Given the description of an element on the screen output the (x, y) to click on. 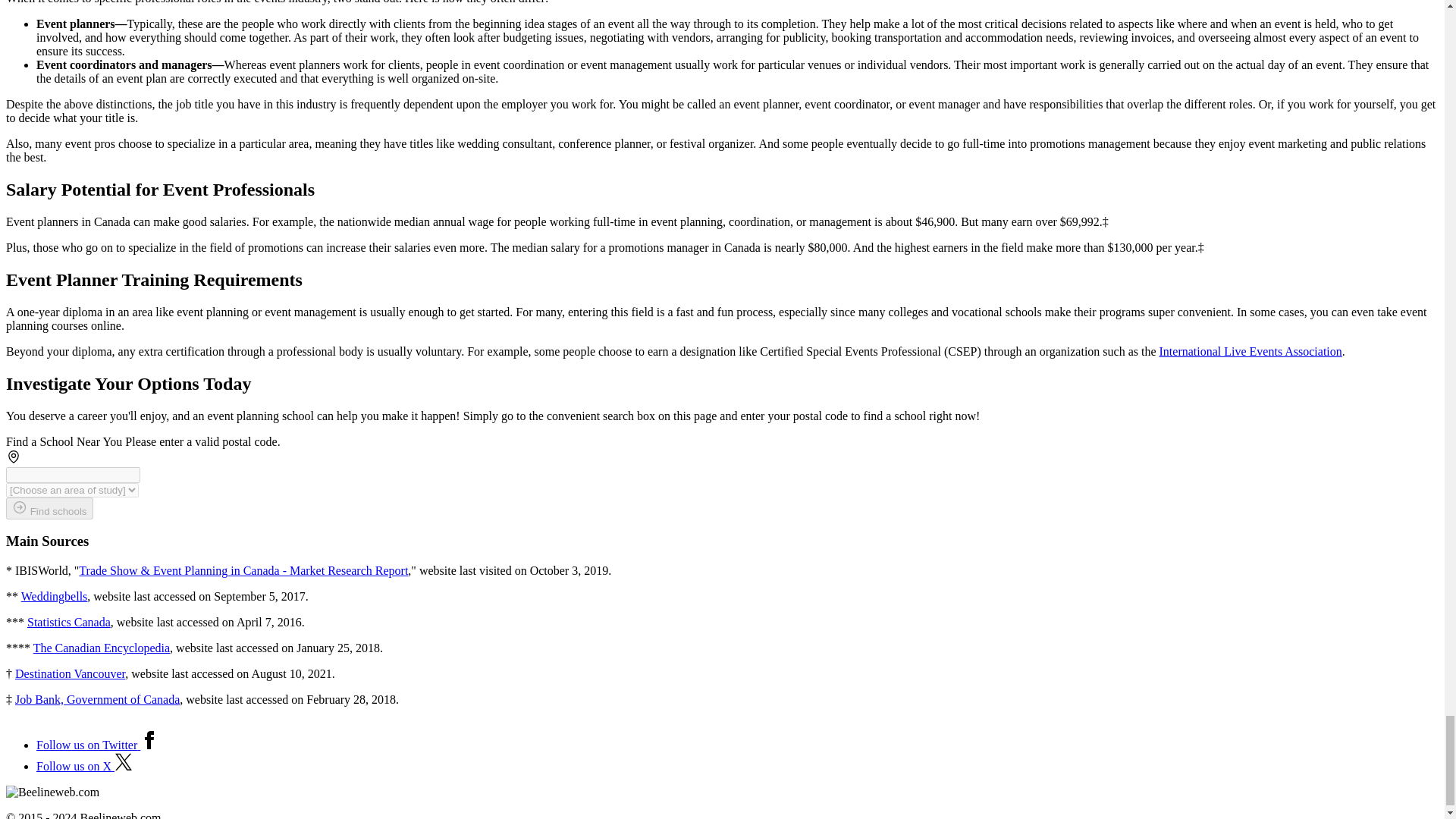
Follow us on Facebook (97, 744)
Follow us on X (84, 766)
